Given the description of an element on the screen output the (x, y) to click on. 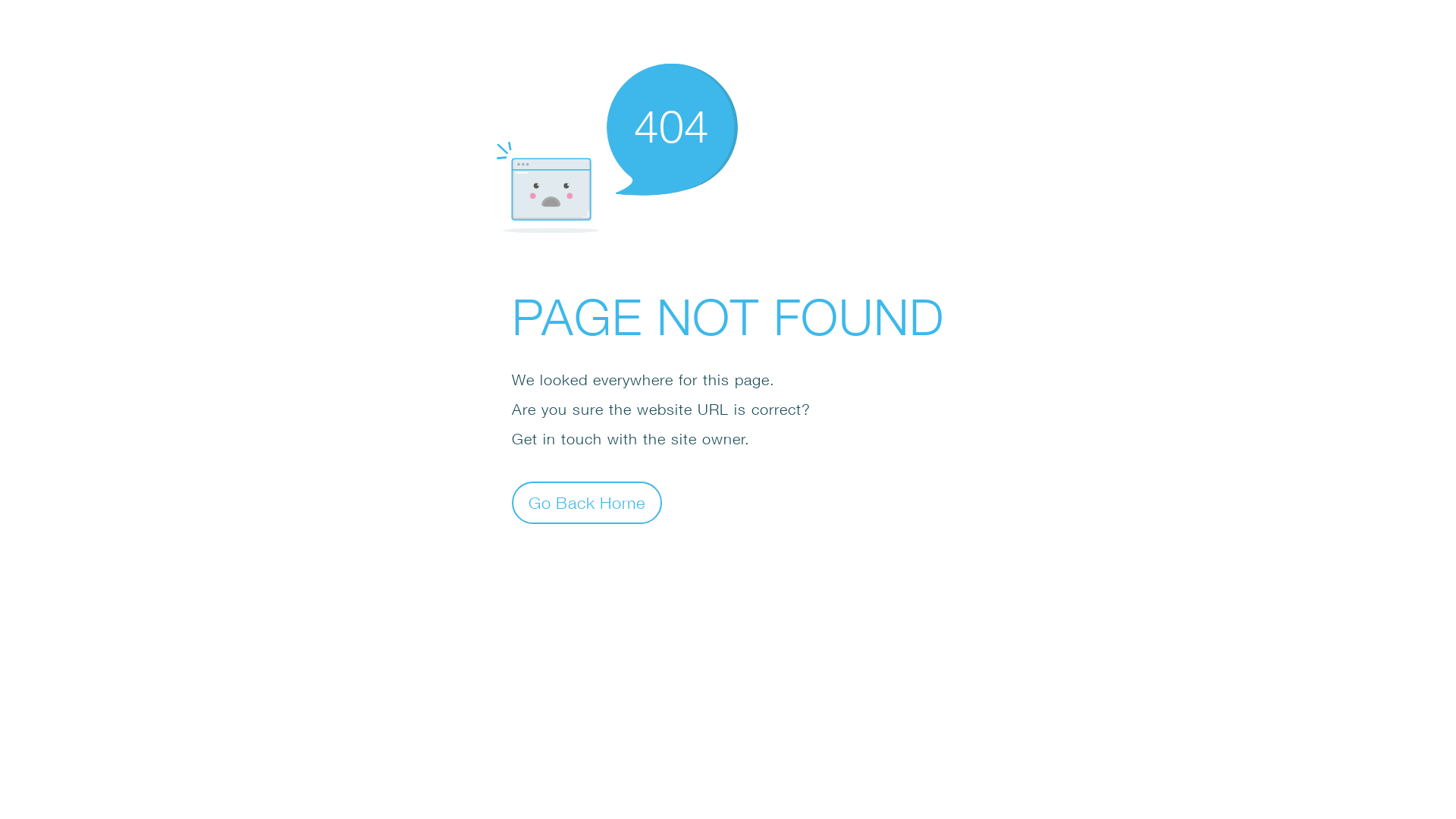
Go Back Home Element type: text (586, 502)
